Given the description of an element on the screen output the (x, y) to click on. 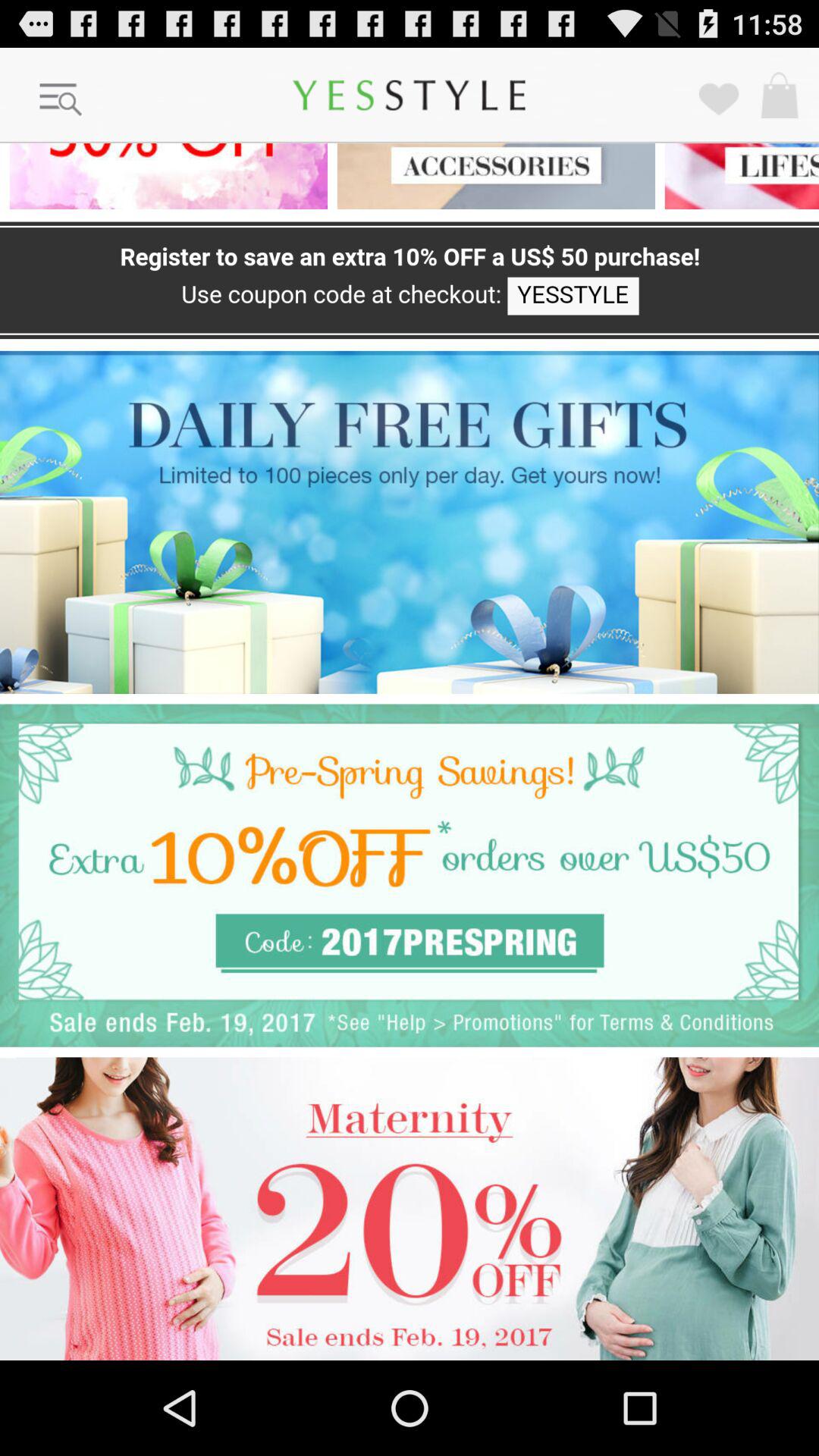
offer image (163, 176)
